Given the description of an element on the screen output the (x, y) to click on. 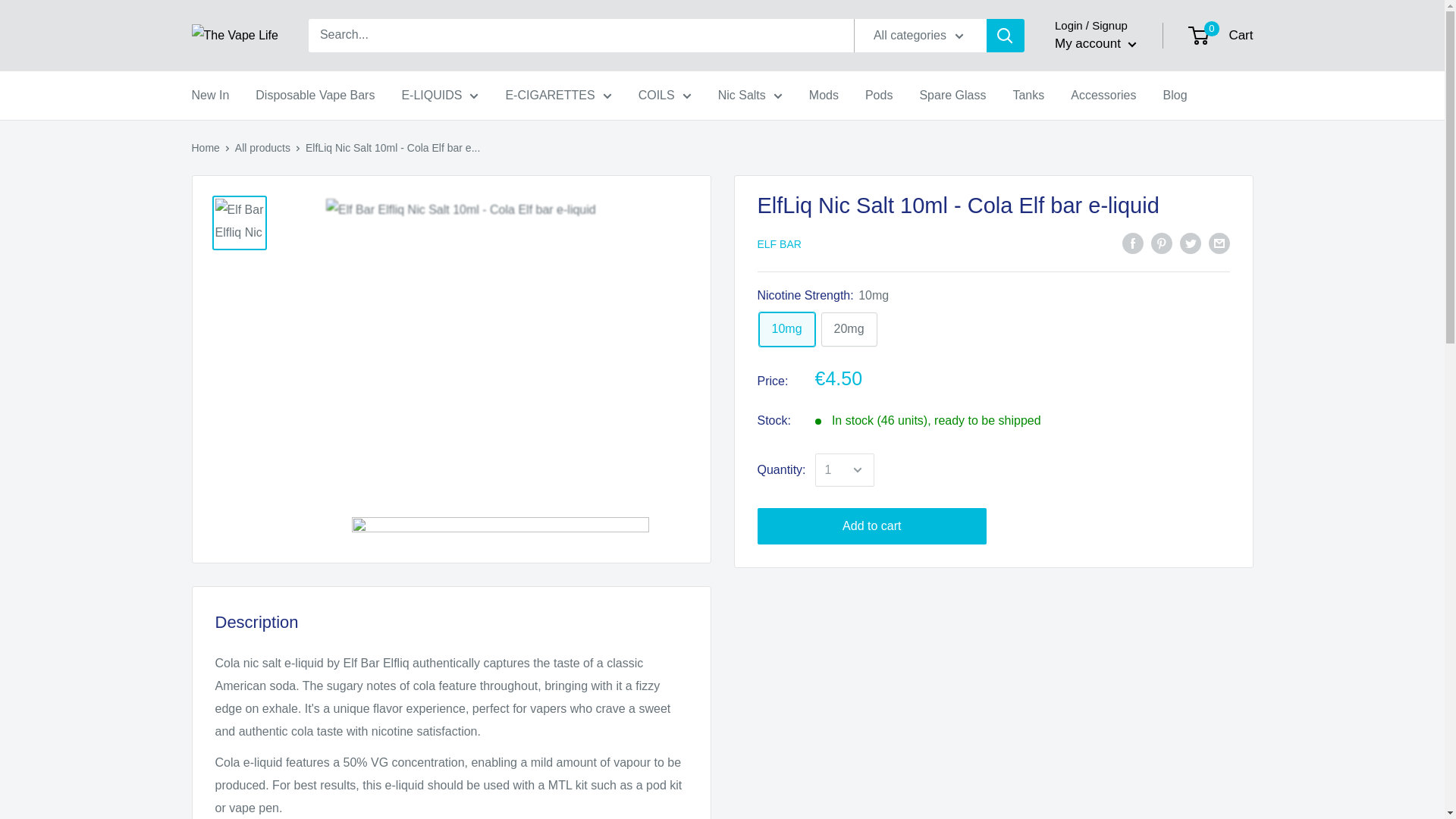
20mg (849, 329)
10mg (785, 329)
